Given the description of an element on the screen output the (x, y) to click on. 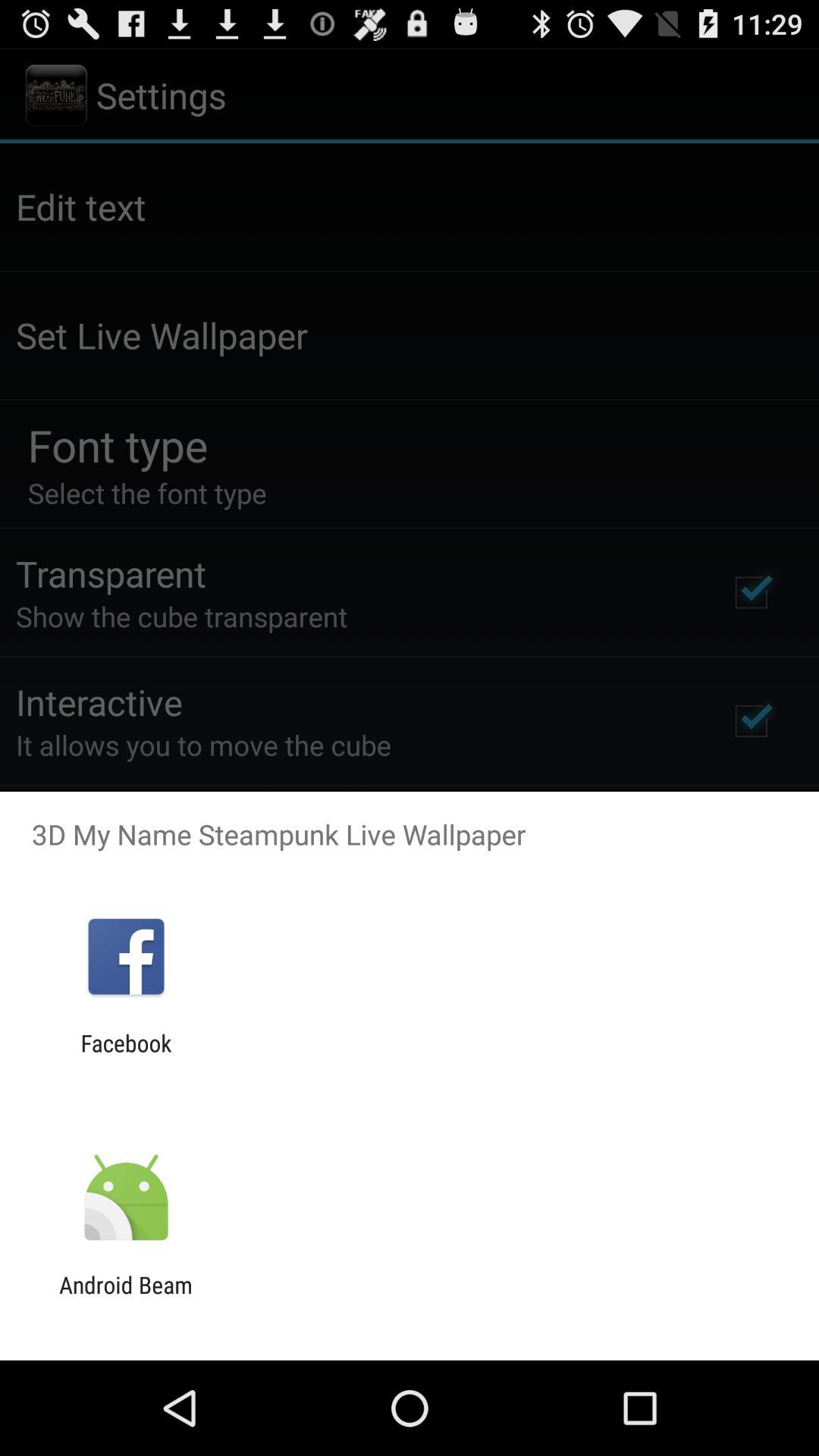
swipe to facebook icon (125, 1056)
